Given the description of an element on the screen output the (x, y) to click on. 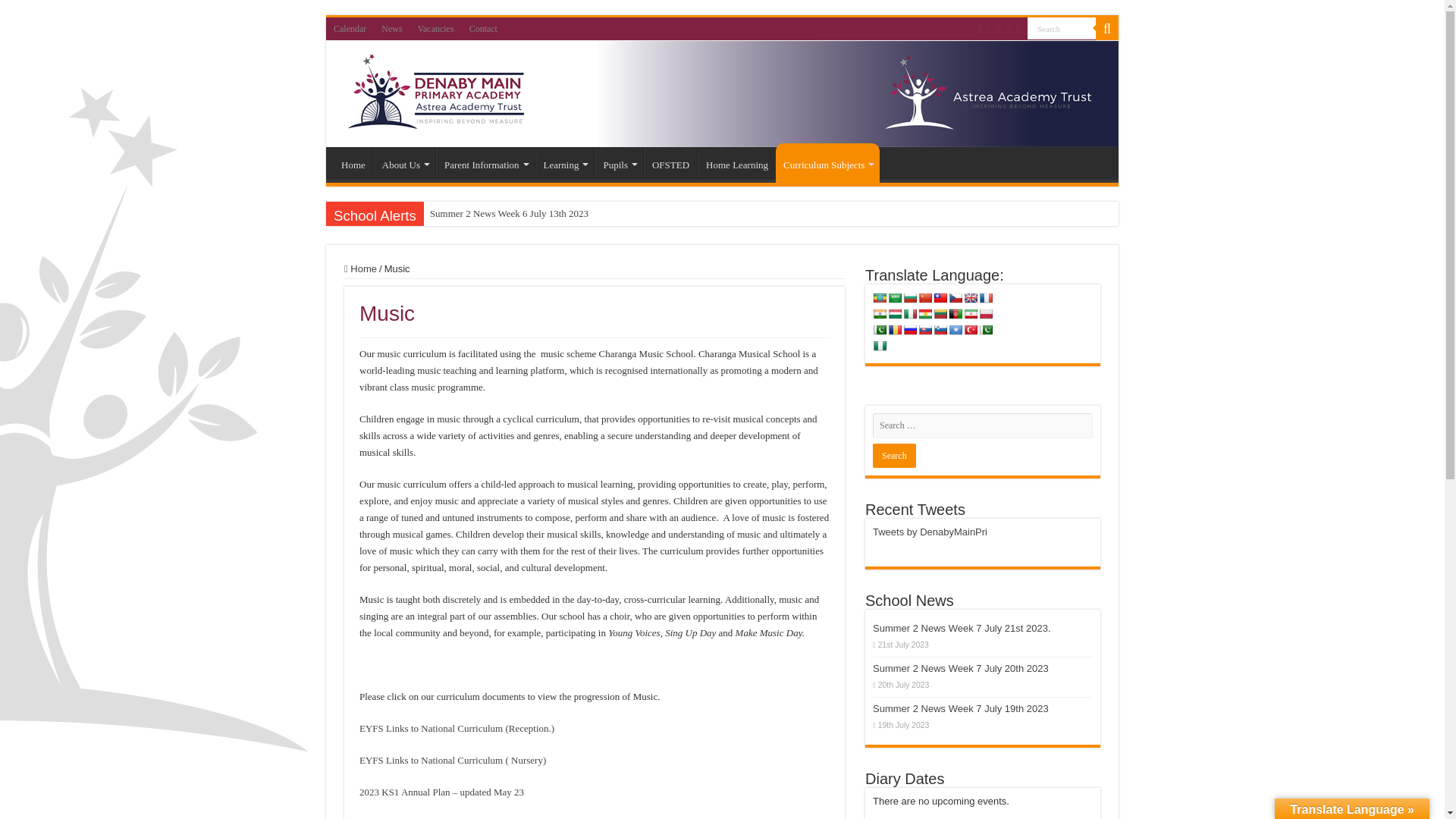
Search (893, 455)
Parent Information (484, 163)
Search (1061, 28)
Home (352, 163)
Search (1061, 28)
Search (1061, 28)
Denaby Main Primary Academy (722, 93)
Contact (483, 28)
Calendar (350, 28)
Vacancies (435, 28)
